Given the description of an element on the screen output the (x, y) to click on. 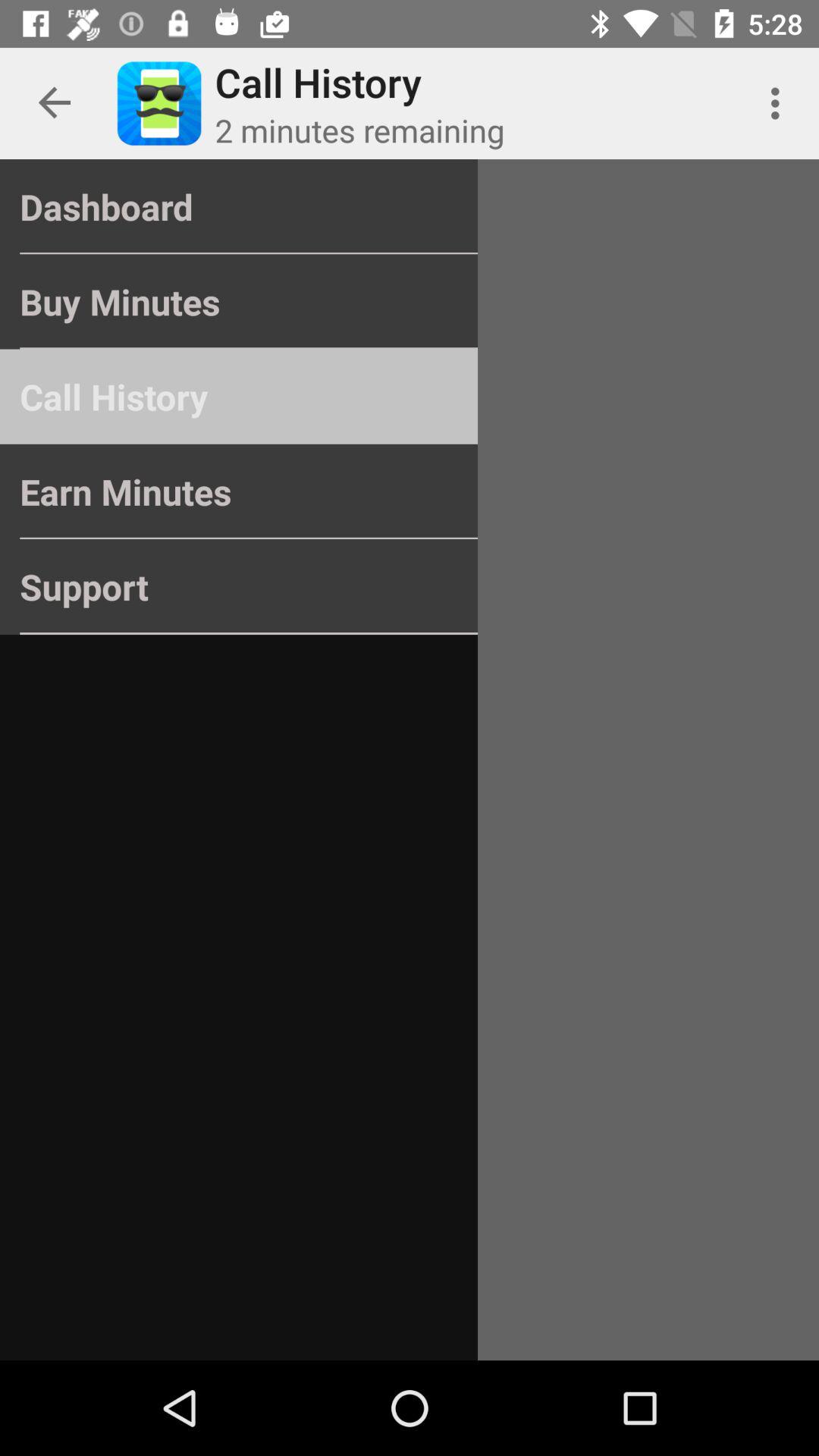
choose icon at the top right corner (779, 103)
